Given the description of an element on the screen output the (x, y) to click on. 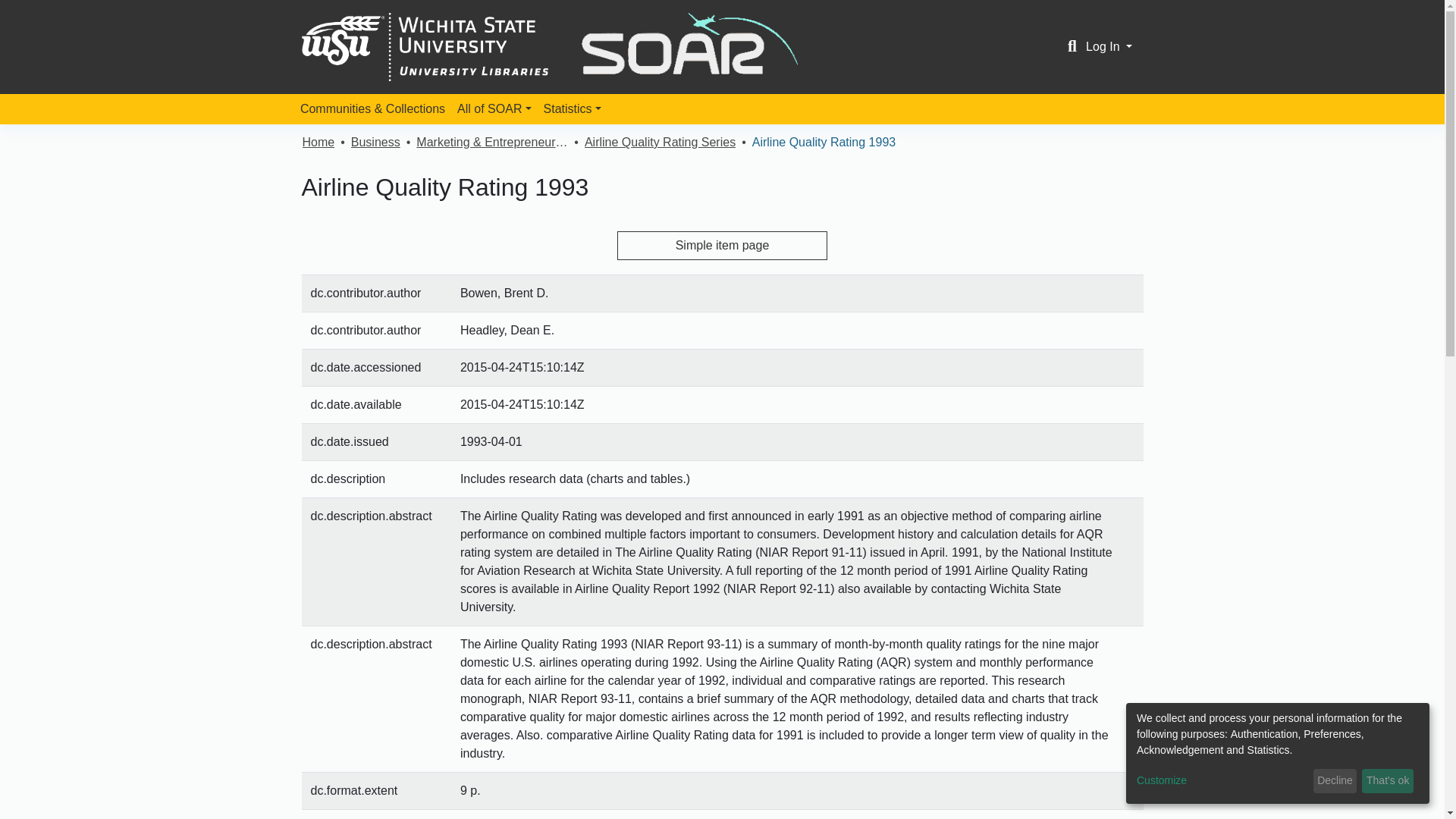
Business (375, 142)
Search (1072, 46)
Home (317, 142)
Log In (1108, 46)
Simple item page (722, 245)
That's ok (1387, 781)
Decline (1334, 781)
All of SOAR (494, 109)
Airline Quality Rating Series (660, 142)
Customize (1222, 780)
Statistics (572, 109)
